Given the description of an element on the screen output the (x, y) to click on. 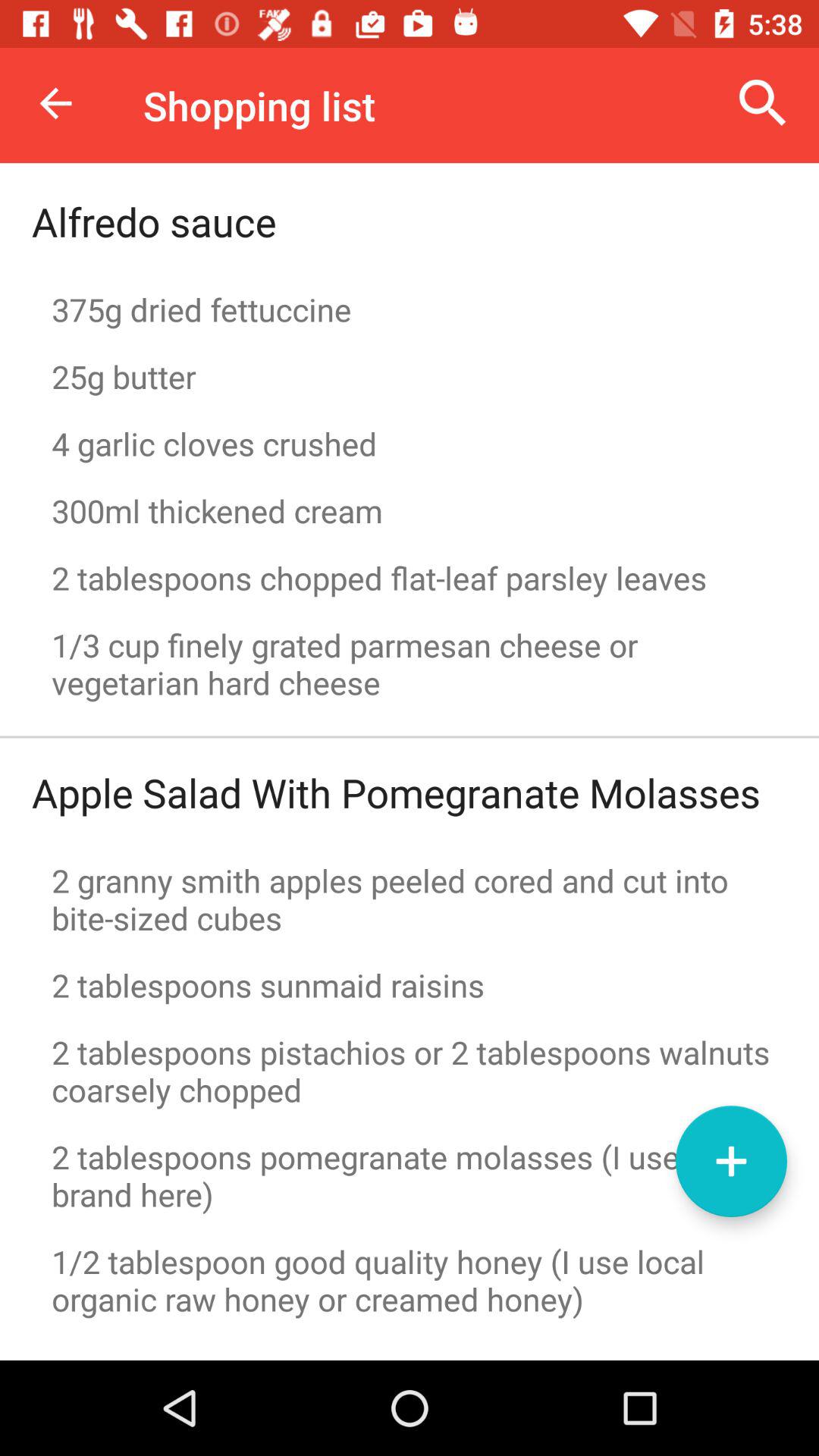
swipe to apple salad with icon (396, 792)
